Given the description of an element on the screen output the (x, y) to click on. 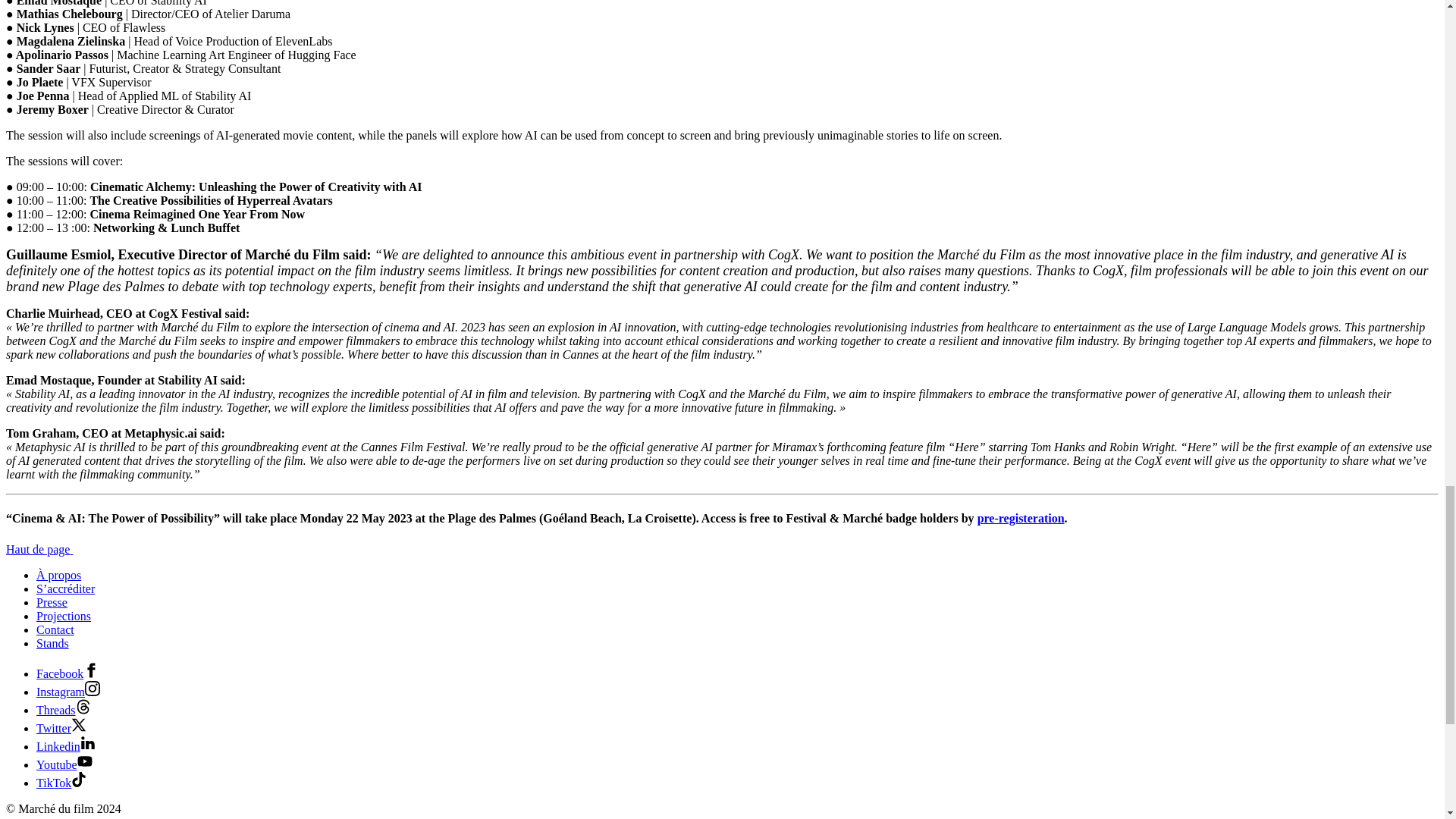
Haut de page (43, 549)
